Given the description of an element on the screen output the (x, y) to click on. 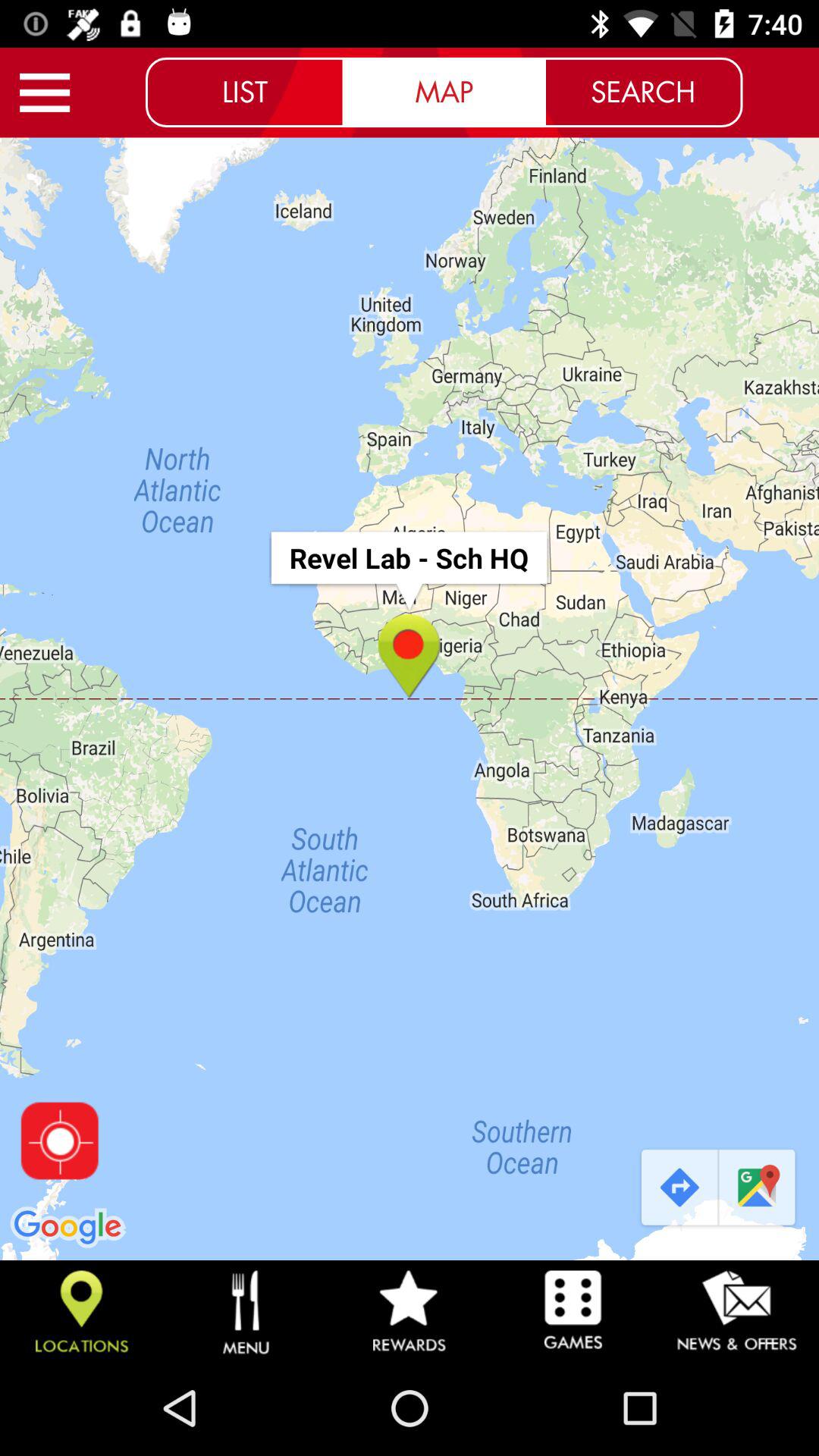
select the search icon (642, 92)
